Given the description of an element on the screen output the (x, y) to click on. 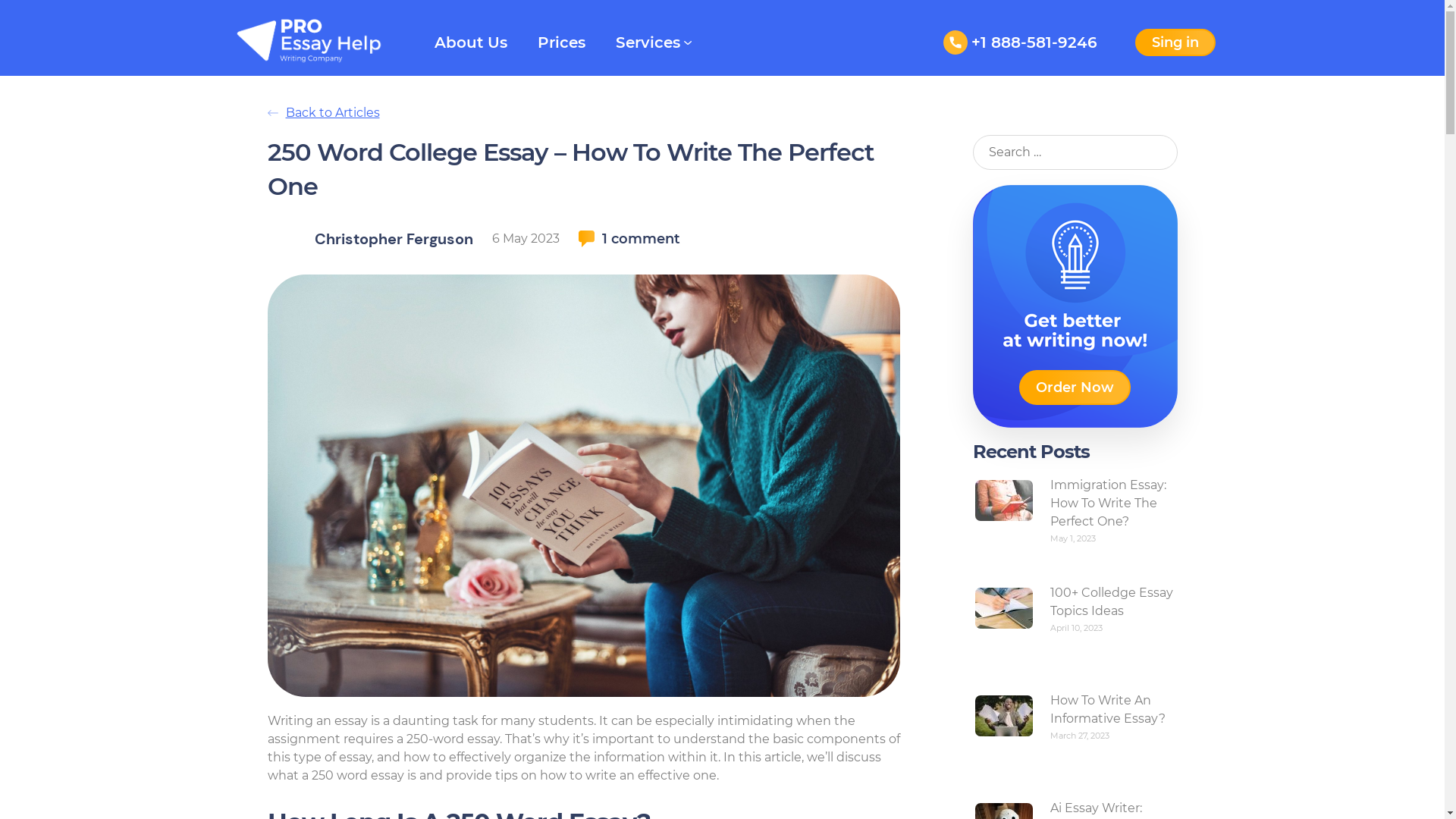
Immigration Essay: How To Write The Perfect One? Element type: text (1107, 502)
Prices Element type: text (560, 42)
+1 888-581-9246 Element type: text (1020, 42)
Search Element type: text (26, 9)
How To Write An Informative Essay? Element type: text (1106, 709)
About Us Element type: text (469, 42)
Back to Articles Element type: text (721, 112)
100+ Colledge Essay Topics Ideas Element type: text (1110, 601)
1 comment Element type: text (628, 238)
Christopher Ferguson Element type: text (392, 238)
Sing in Element type: text (1174, 42)
Order Now Element type: text (1074, 387)
